Given the description of an element on the screen output the (x, y) to click on. 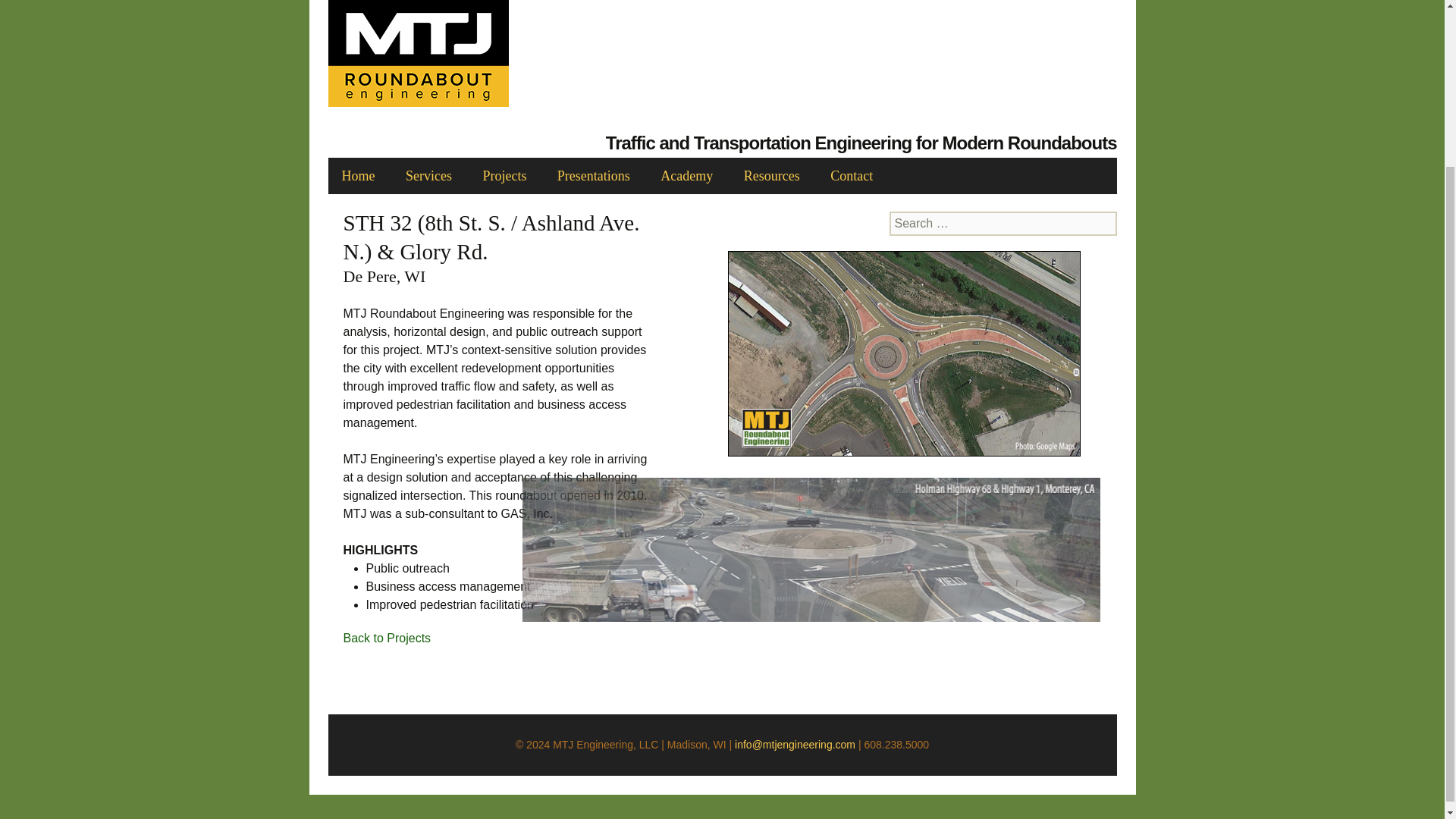
About Us (892, 212)
Services (428, 176)
MTJ Roundabout Engineering (810, 390)
Back to Projects (386, 637)
Contact (851, 176)
Home (357, 176)
Presentations (593, 176)
MTJ Roundabout Engineering (810, 564)
Academy (686, 176)
Projects (504, 176)
MTJ Roundabout Engineering (721, 64)
Resources (771, 176)
MTJ Roundabout Engineering (811, 215)
